Given the description of an element on the screen output the (x, y) to click on. 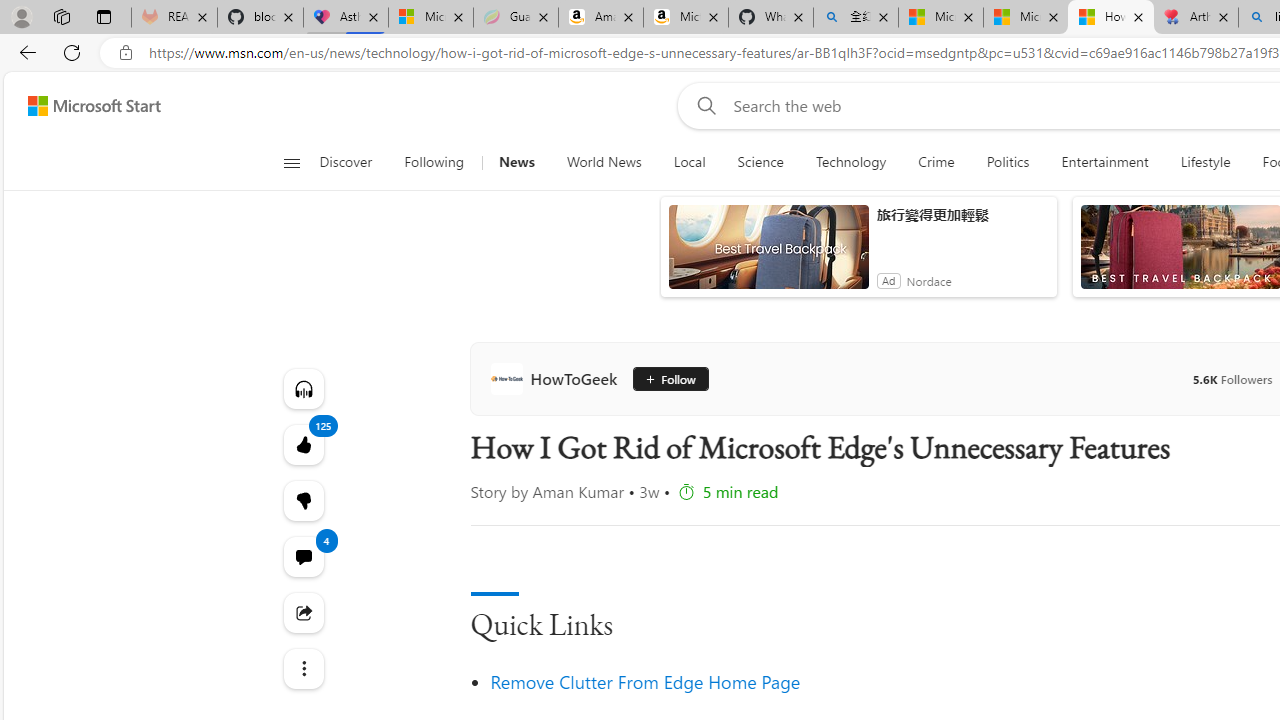
Crime (935, 162)
Lifestyle (1205, 162)
Class: button-glyph (290, 162)
Open navigation menu (291, 162)
Class: at-item (302, 668)
How I Got Rid of Microsoft Edge's Unnecessary Features (1110, 17)
Crime (936, 162)
